Given the description of an element on the screen output the (x, y) to click on. 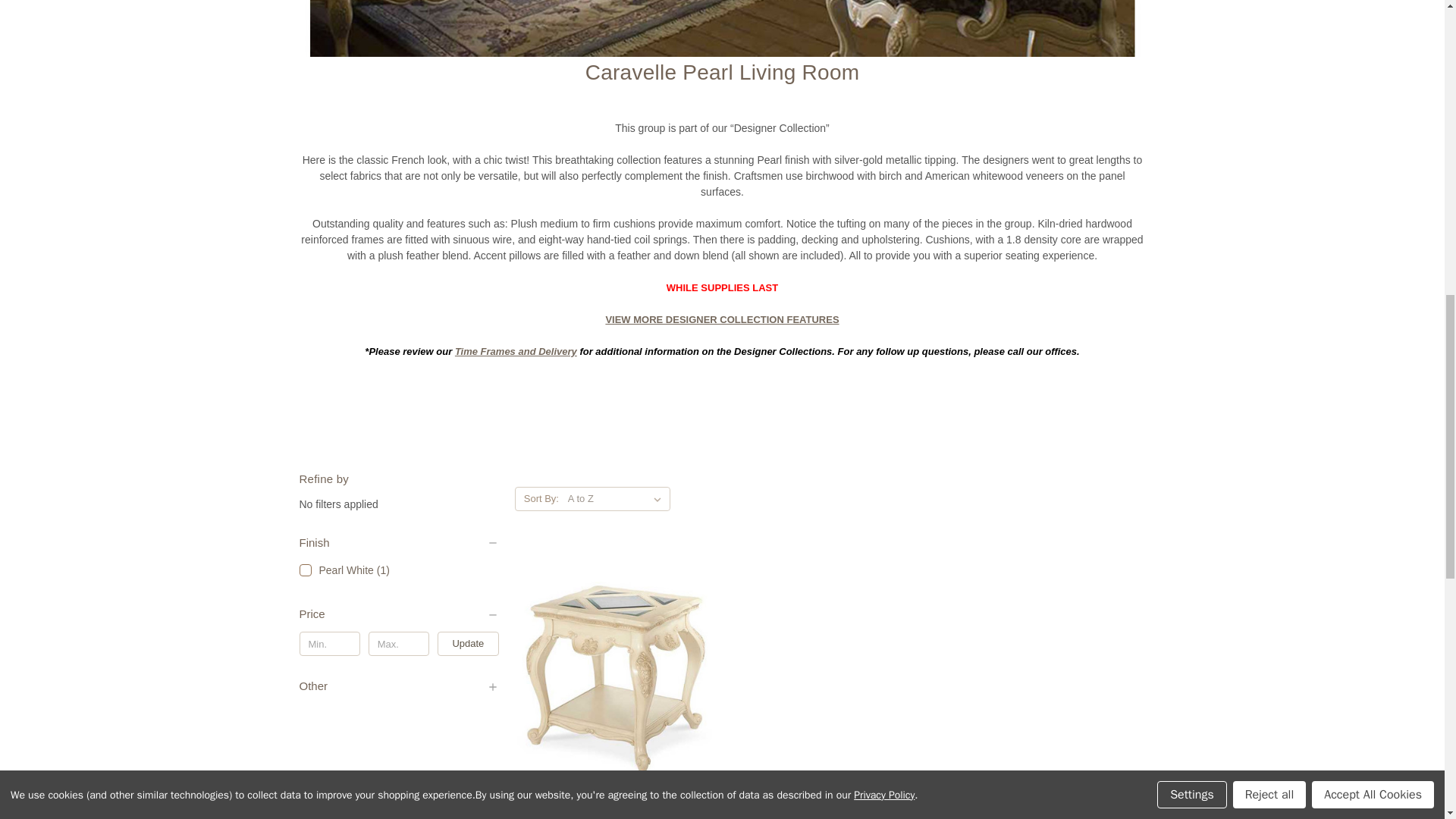
Caravelle Pearl End Table (613, 678)
Caravelle Pearl Living Room (721, 28)
Designer Collection Features 1 (721, 319)
